Given the description of an element on the screen output the (x, y) to click on. 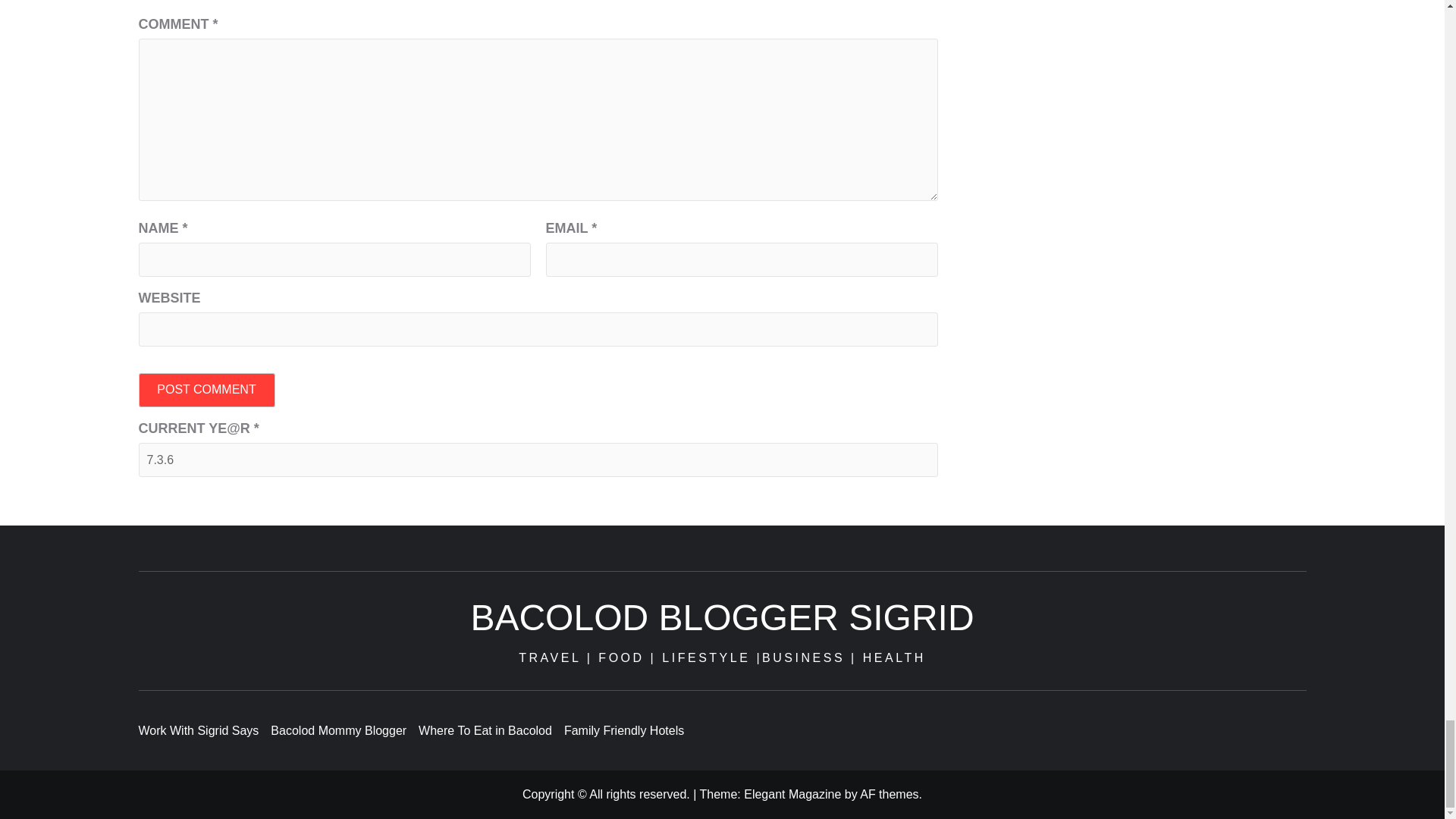
7.3.6 (537, 459)
Post Comment (206, 390)
